Given the description of an element on the screen output the (x, y) to click on. 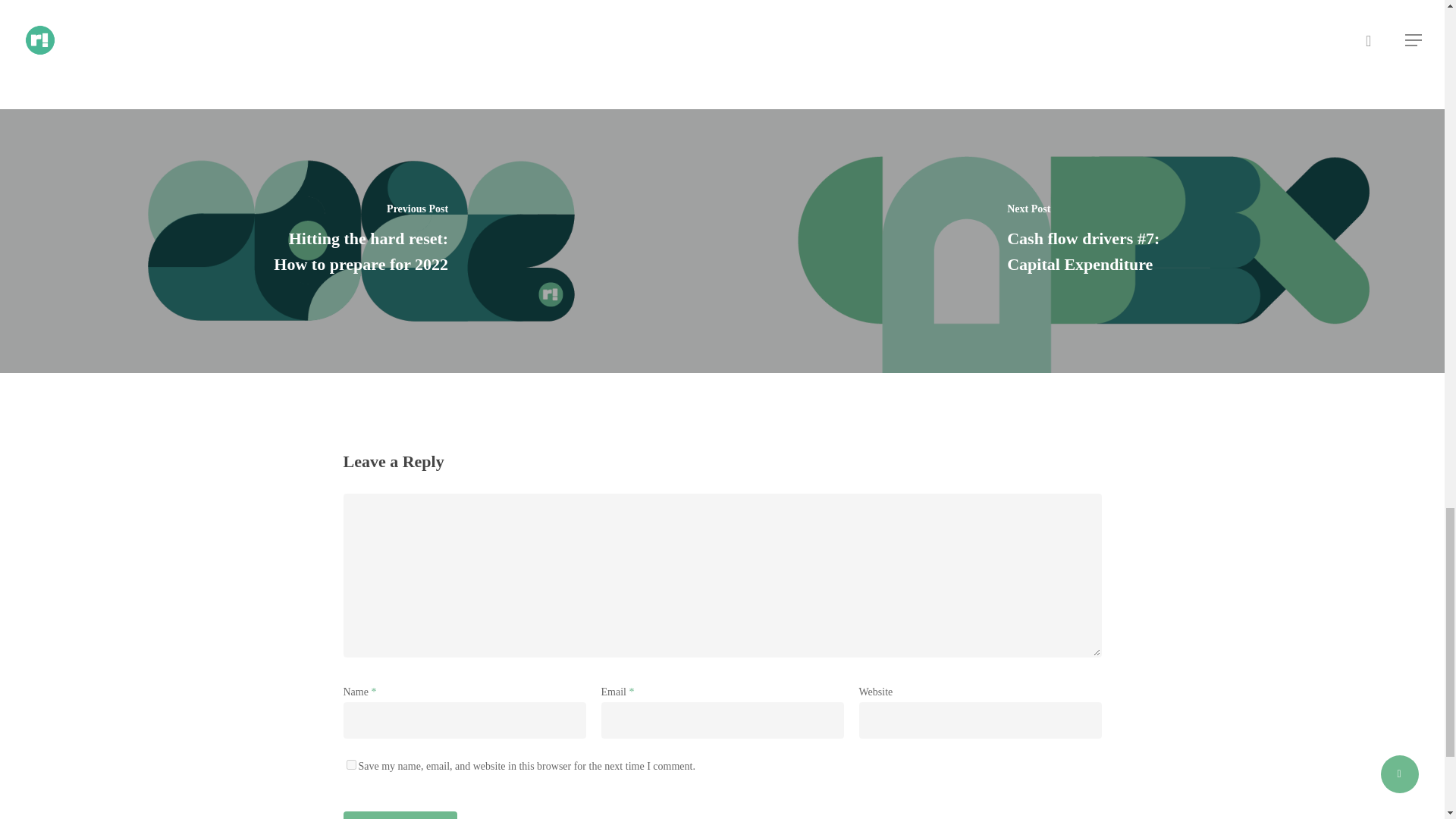
yes (350, 764)
Submit Comment (399, 815)
Submit Comment (399, 815)
